Given the description of an element on the screen output the (x, y) to click on. 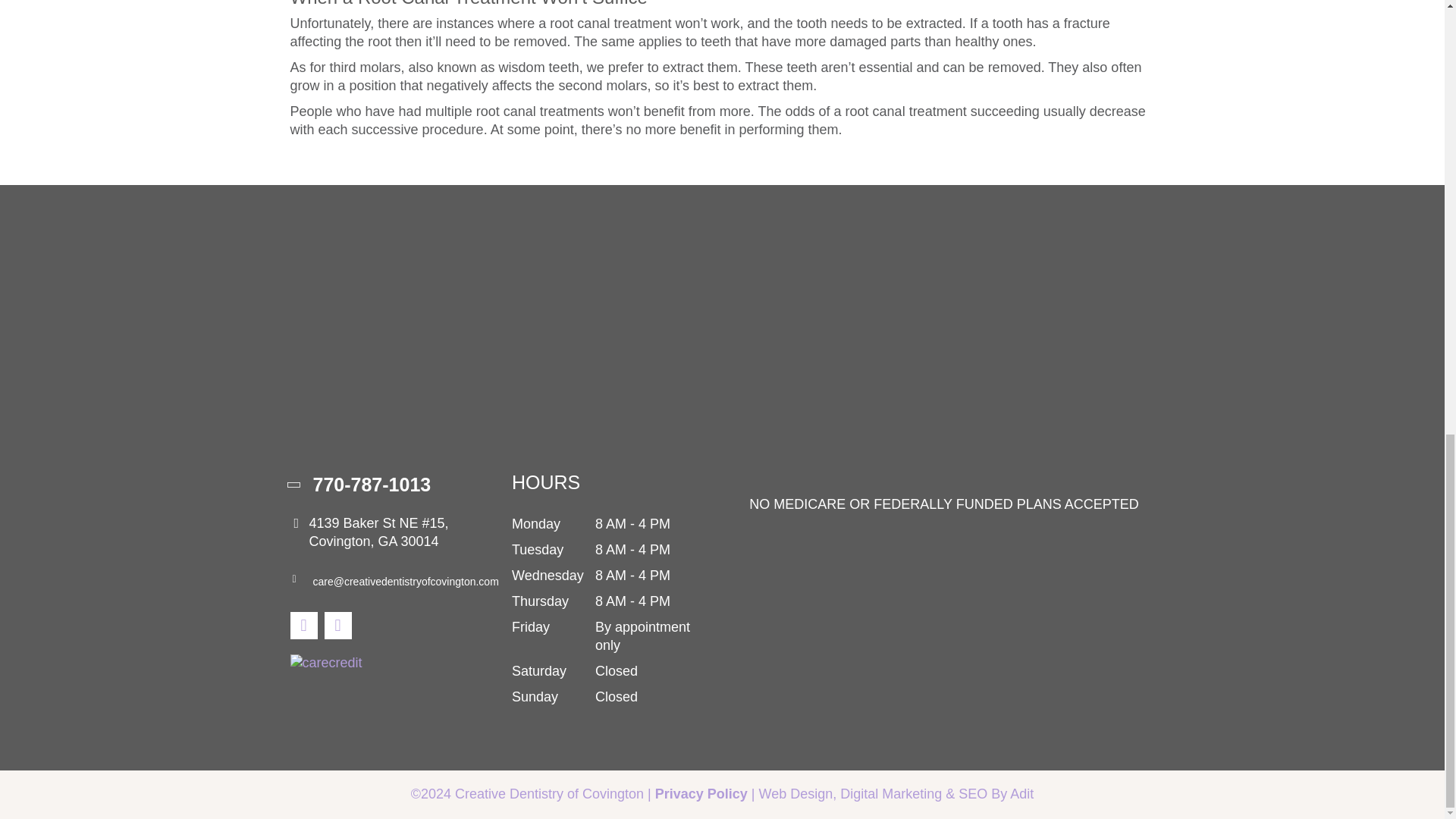
Instagram (338, 625)
Adit (1021, 793)
Facebook (303, 625)
